Given the description of an element on the screen output the (x, y) to click on. 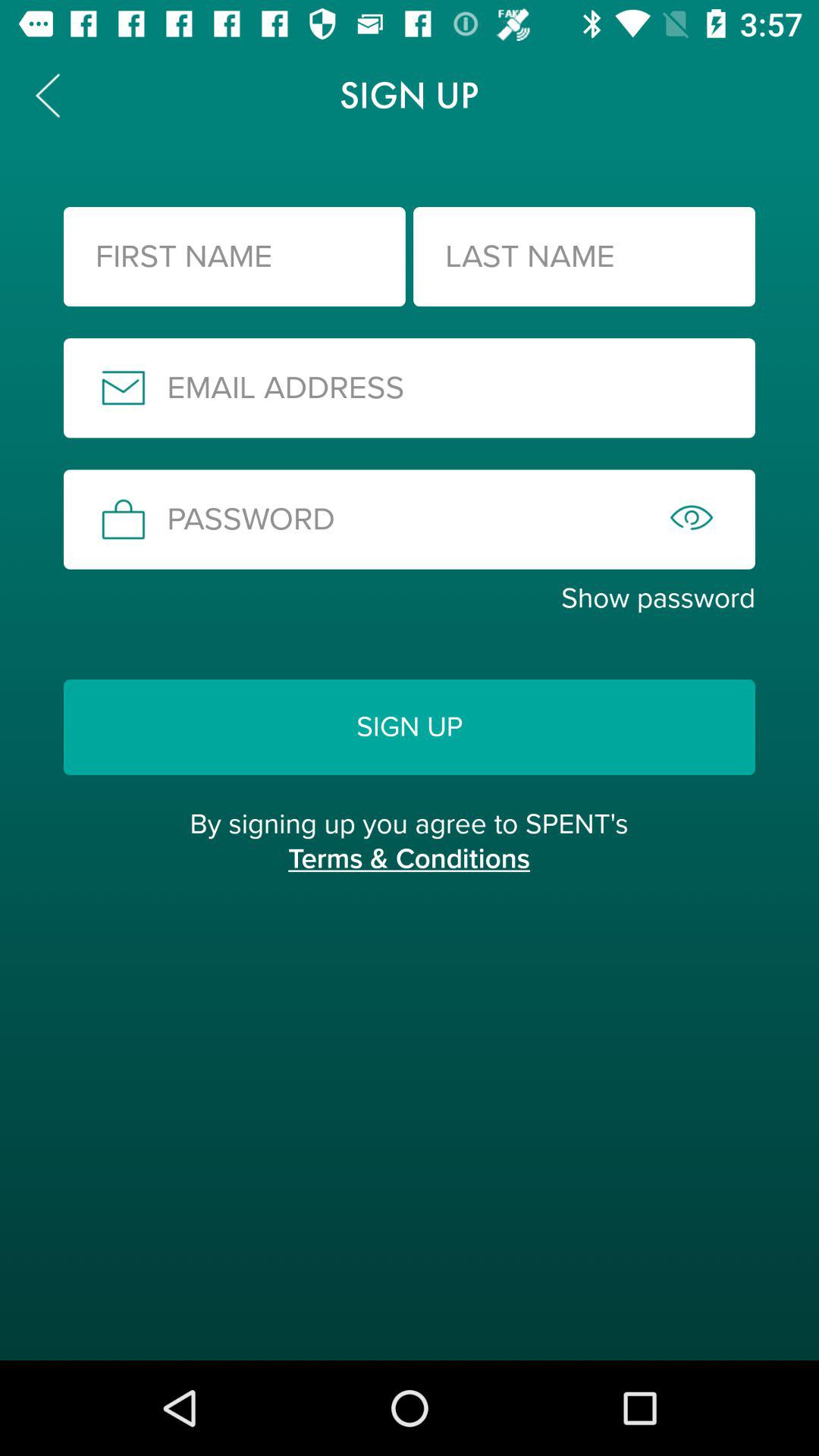
click item below by signing up item (408, 874)
